Given the description of an element on the screen output the (x, y) to click on. 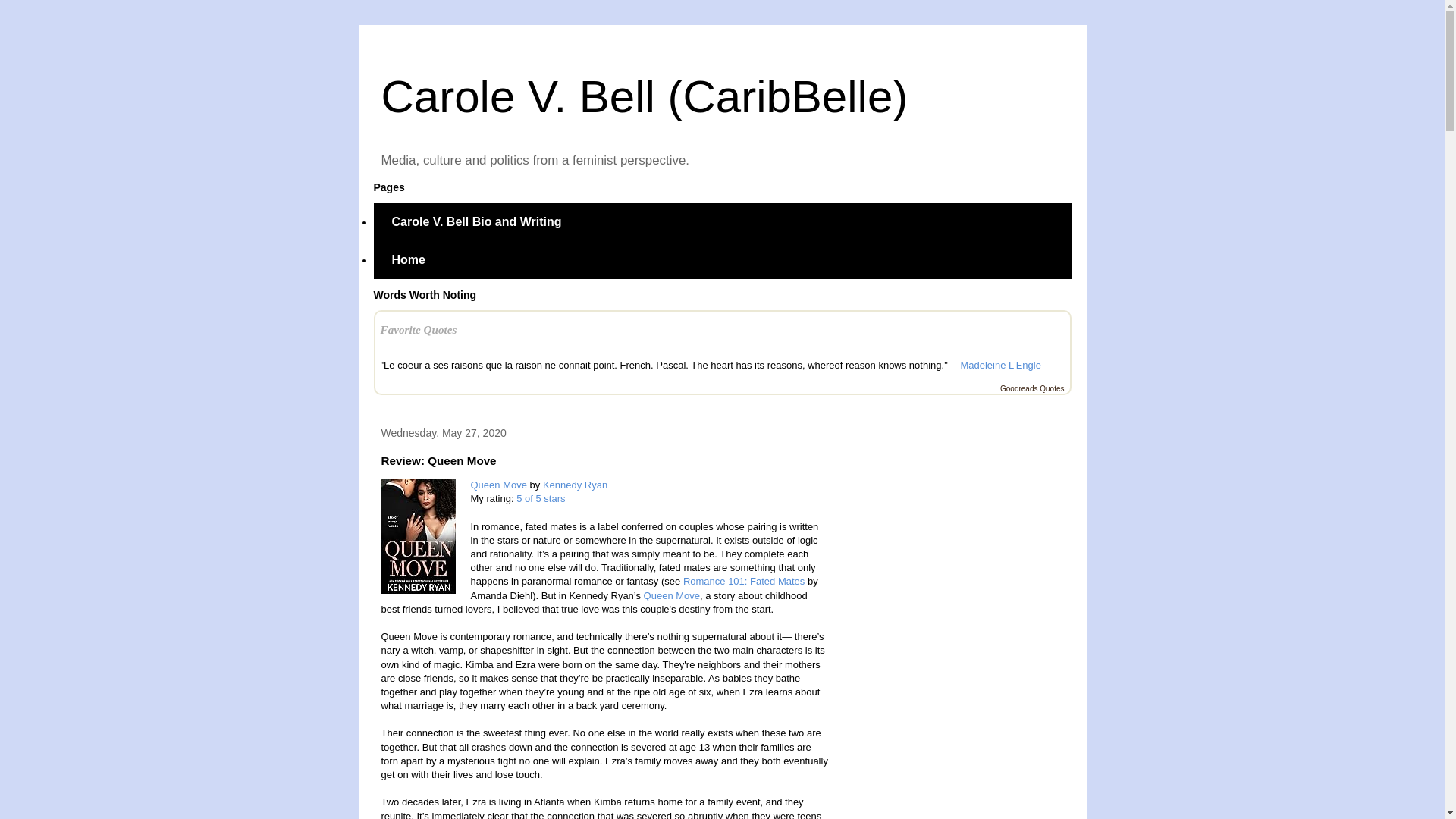
Carole V. Bell Bio and Writing (475, 221)
Queen Move (671, 595)
Madeleine L'Engle quotes (1000, 365)
Kennedy Ryan (575, 484)
Romance 101: Fated Mates (743, 581)
Home (407, 259)
Goodreads Quotes (1032, 388)
5 of 5 stars (540, 498)
Queen Move (497, 484)
Favorite Quotes (418, 328)
Madeleine L'Engle (1000, 365)
